Given the description of an element on the screen output the (x, y) to click on. 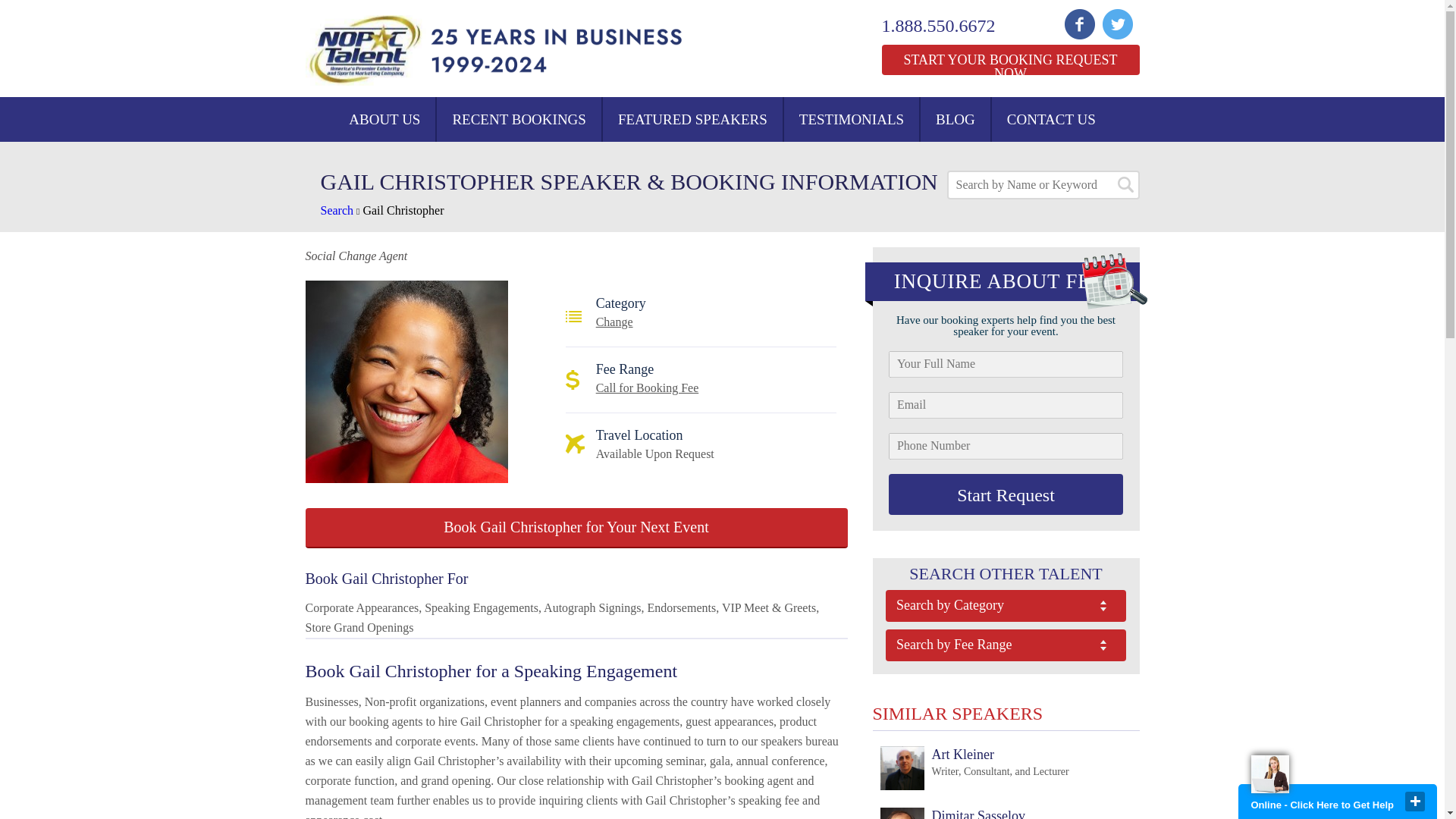
ABOUT US (384, 119)
BLOG (973, 769)
Call for Booking Fee (955, 119)
START YOUR BOOKING REQUEST NOW (646, 387)
Search (1009, 60)
1.888.550.6672 (336, 210)
Search by Category (947, 25)
FEATURED SPEAKERS (1005, 604)
TESTIMONIALS (692, 119)
